Given the description of an element on the screen output the (x, y) to click on. 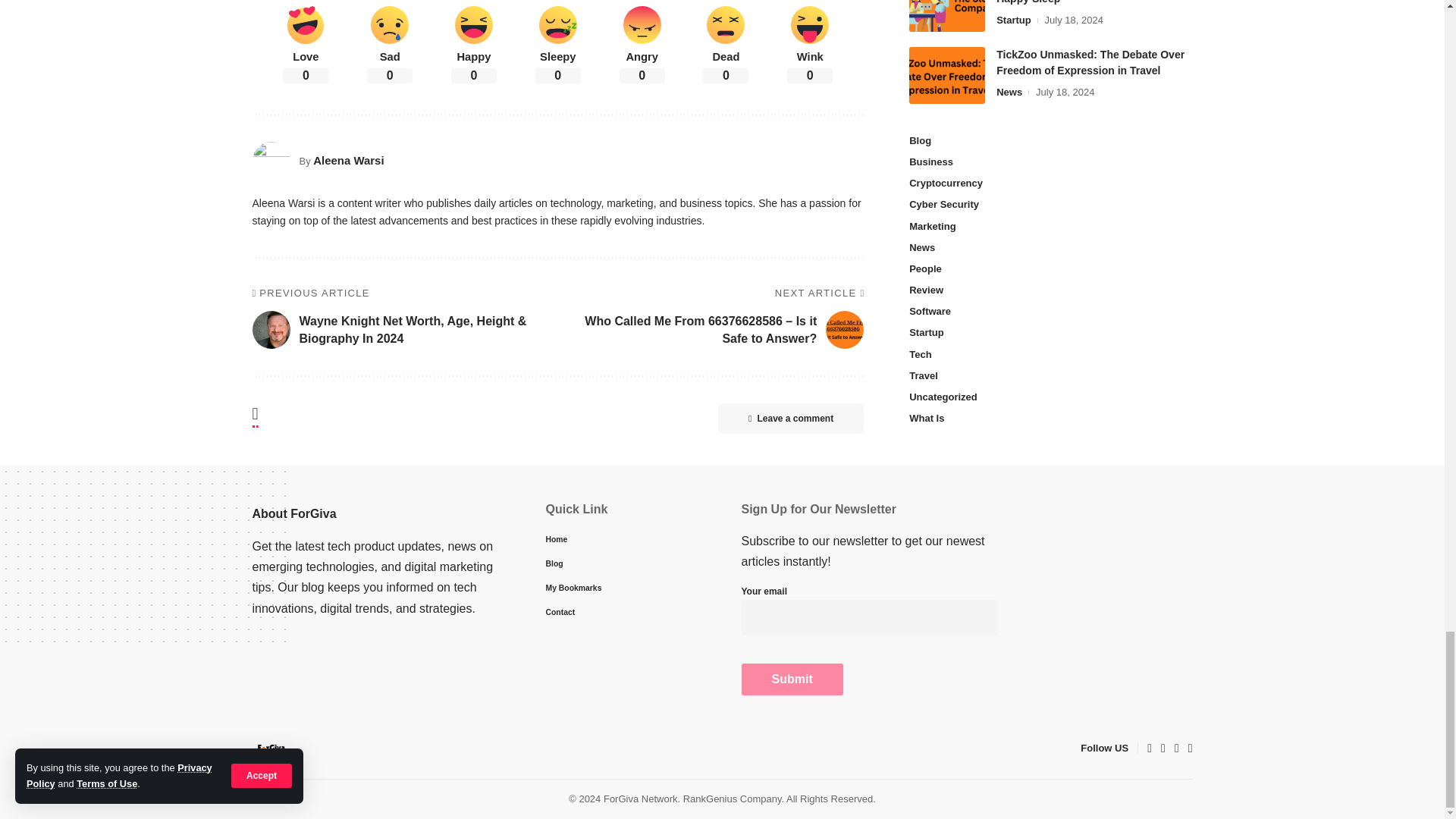
Submit (792, 679)
